Given the description of an element on the screen output the (x, y) to click on. 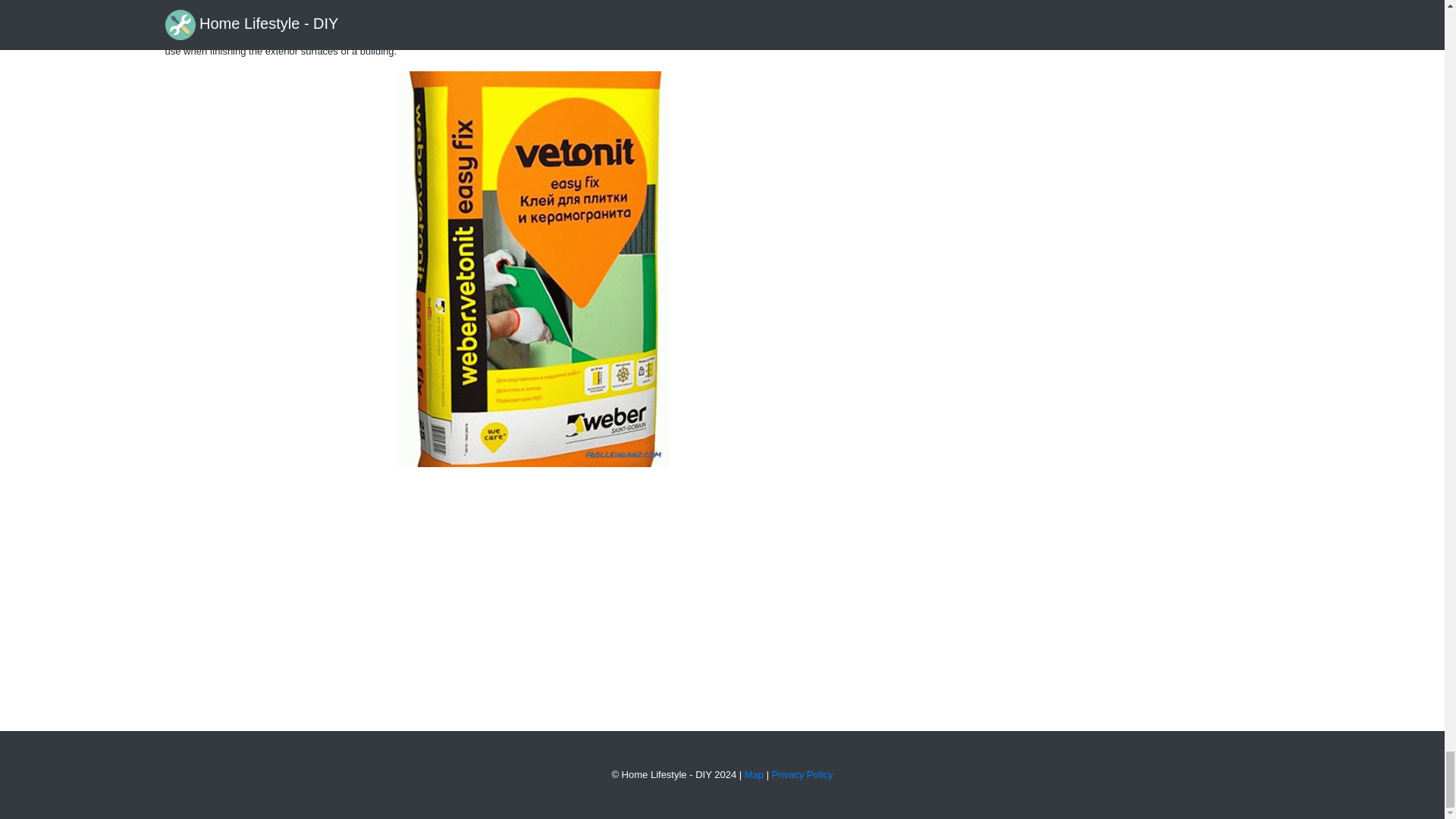
Map (753, 774)
Privacy Policy (801, 774)
